Given the description of an element on the screen output the (x, y) to click on. 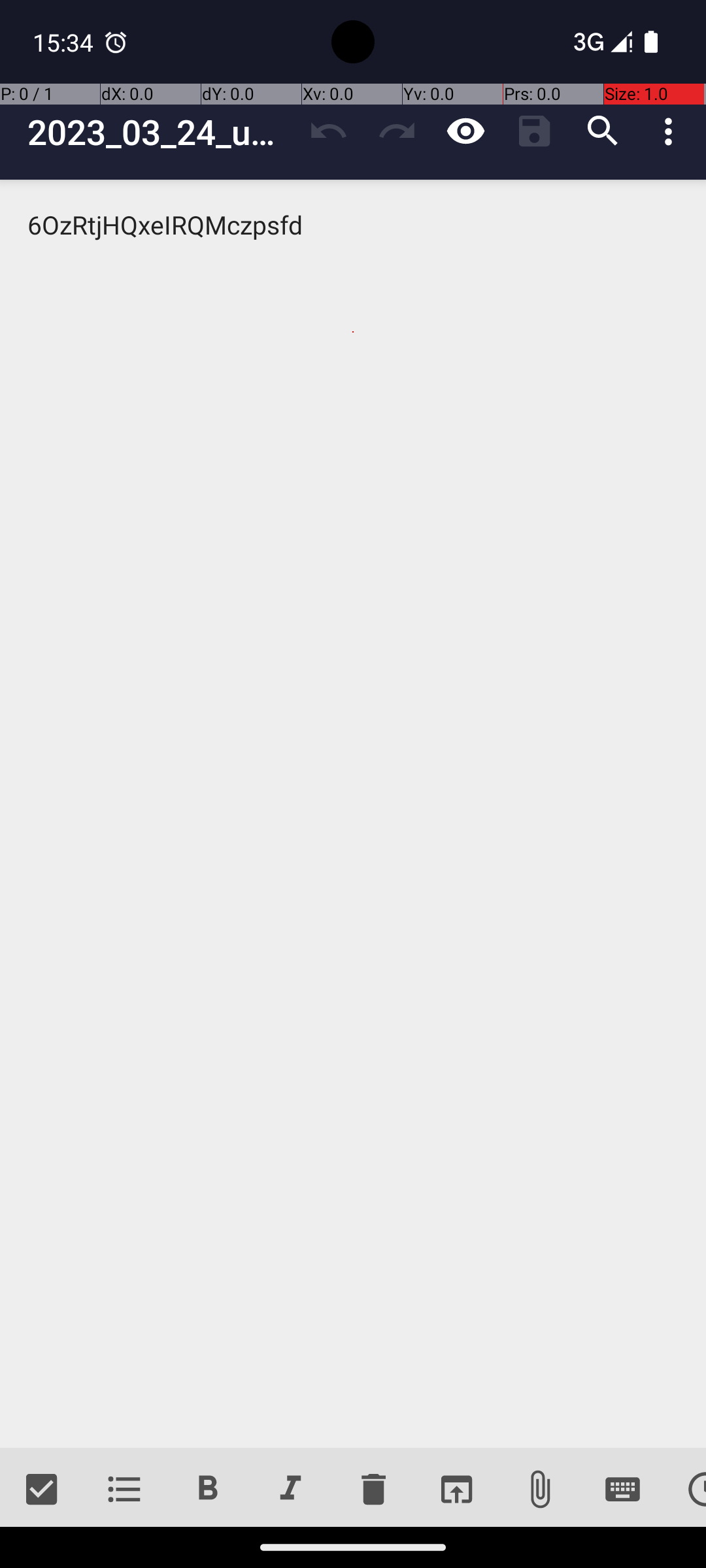
2023_03_24_upcoming_presentation_outline Element type: android.widget.TextView (160, 131)
6OzRtjHQxeIRQMczpsfd
 Element type: android.widget.EditText (353, 813)
